Given the description of an element on the screen output the (x, y) to click on. 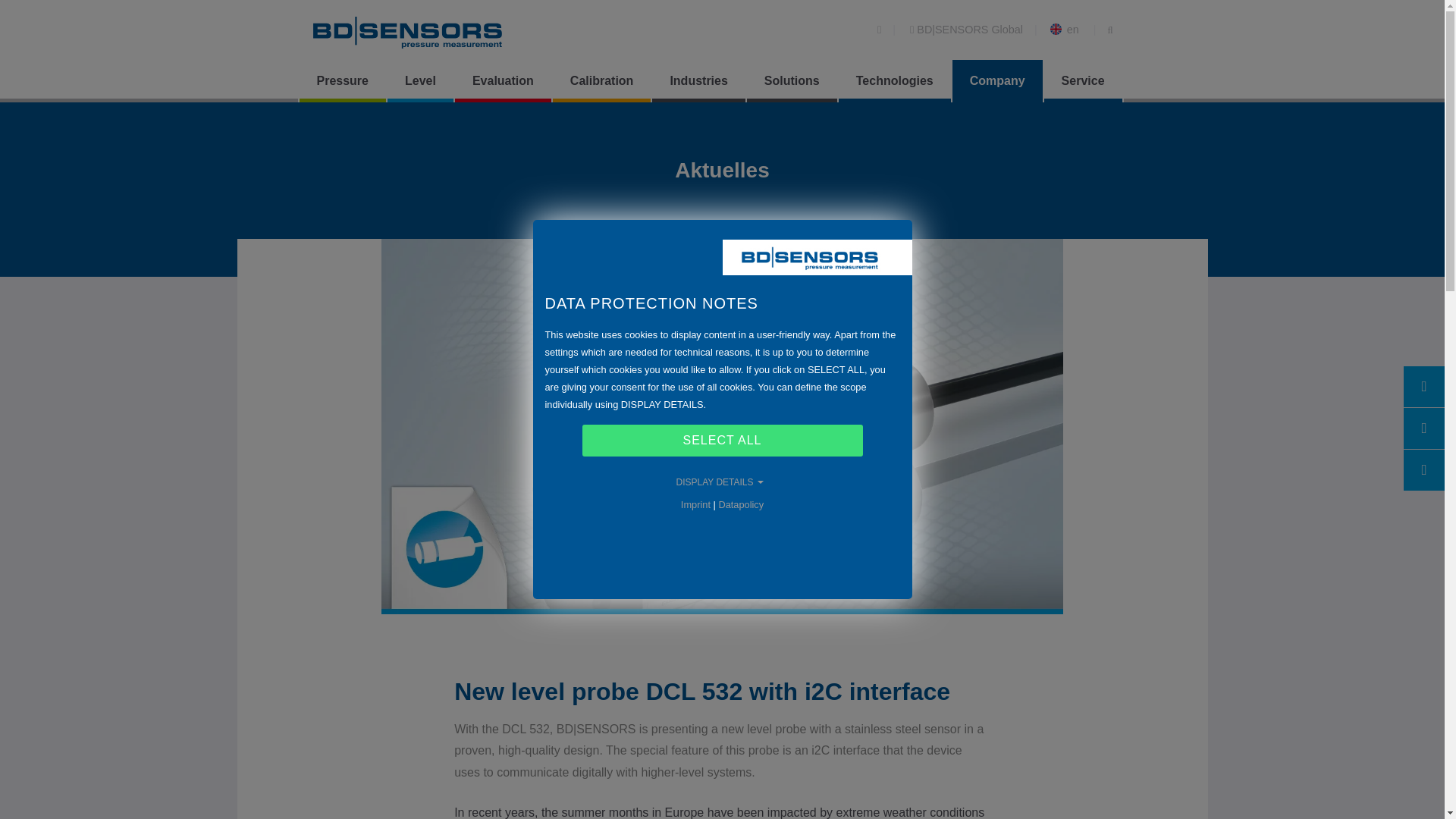
Sensortechnologie (1090, 108)
submersible probe LMK 808 (761, 119)
Data logger CIT 750 (680, 108)
Trennbare Tauchsonden (1031, 108)
Kontakt (948, 108)
